Given the description of an element on the screen output the (x, y) to click on. 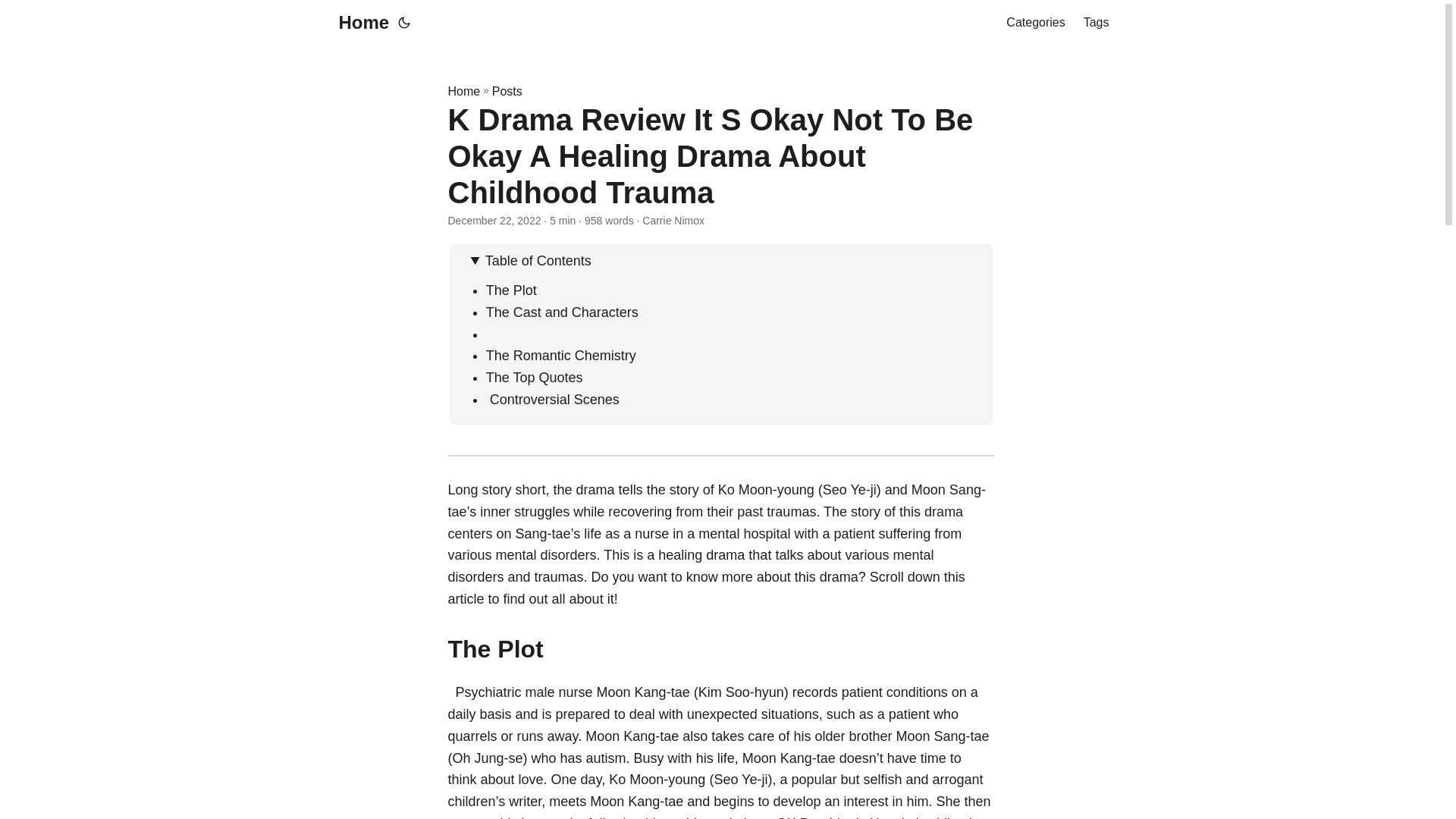
Posts (507, 91)
Categories (1035, 22)
The Plot (511, 290)
 Controversial Scenes (553, 399)
The Top Quotes (534, 377)
Home (463, 91)
Home (359, 22)
The Romantic Chemistry (561, 355)
Categories (1035, 22)
The Cast and Characters (562, 312)
